Given the description of an element on the screen output the (x, y) to click on. 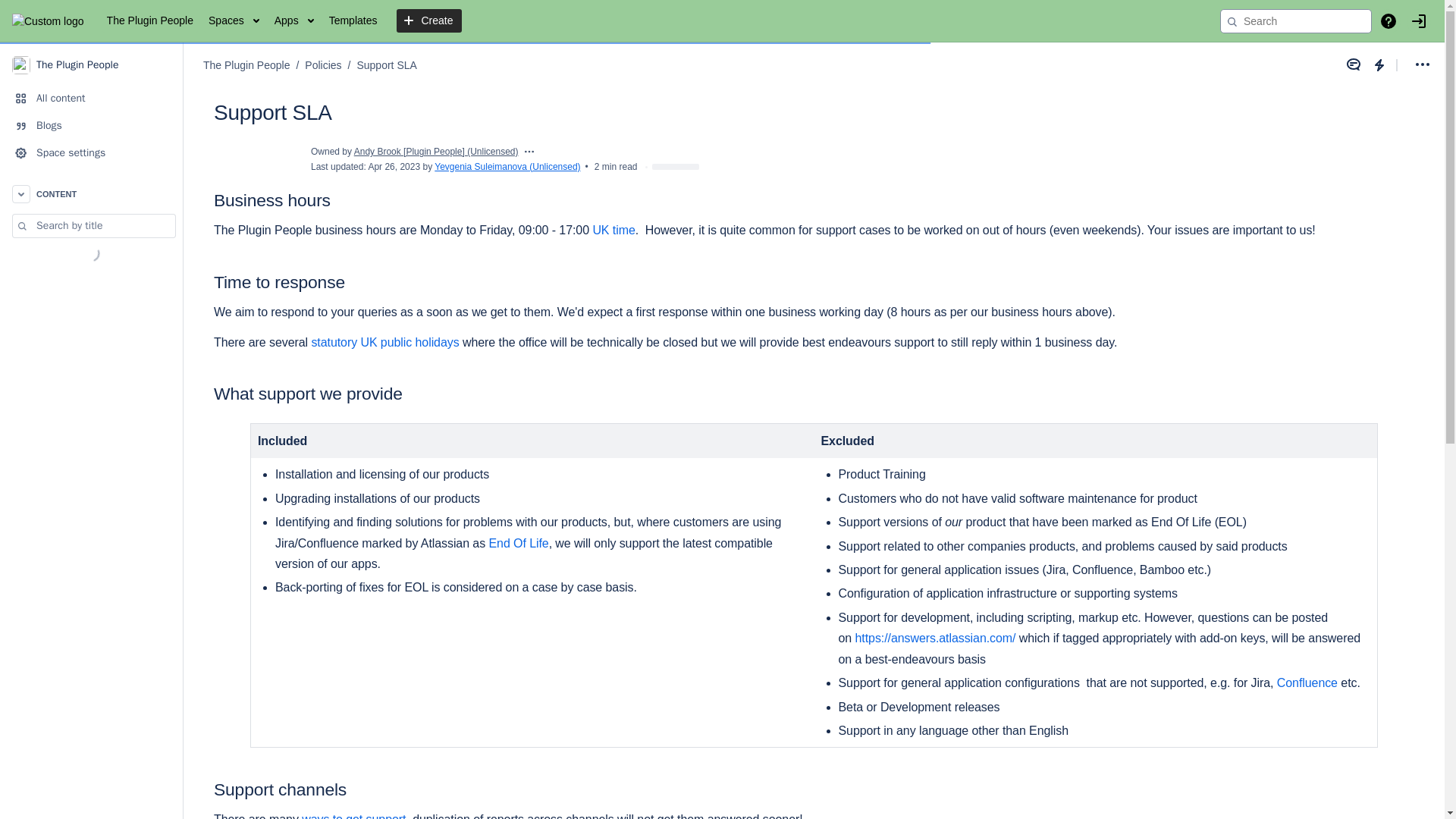
Create (428, 21)
The Plugin People (246, 64)
The Plugin People (149, 21)
Confluence (1307, 682)
Spaces (233, 21)
End Of Life (517, 543)
All content (90, 98)
Support SLA (386, 64)
Space settings (90, 153)
UK time (613, 229)
Apps (293, 21)
statutory UK public holidays (384, 341)
Templates (352, 21)
ways to get support (353, 816)
The Plugin People (90, 64)
